Given the description of an element on the screen output the (x, y) to click on. 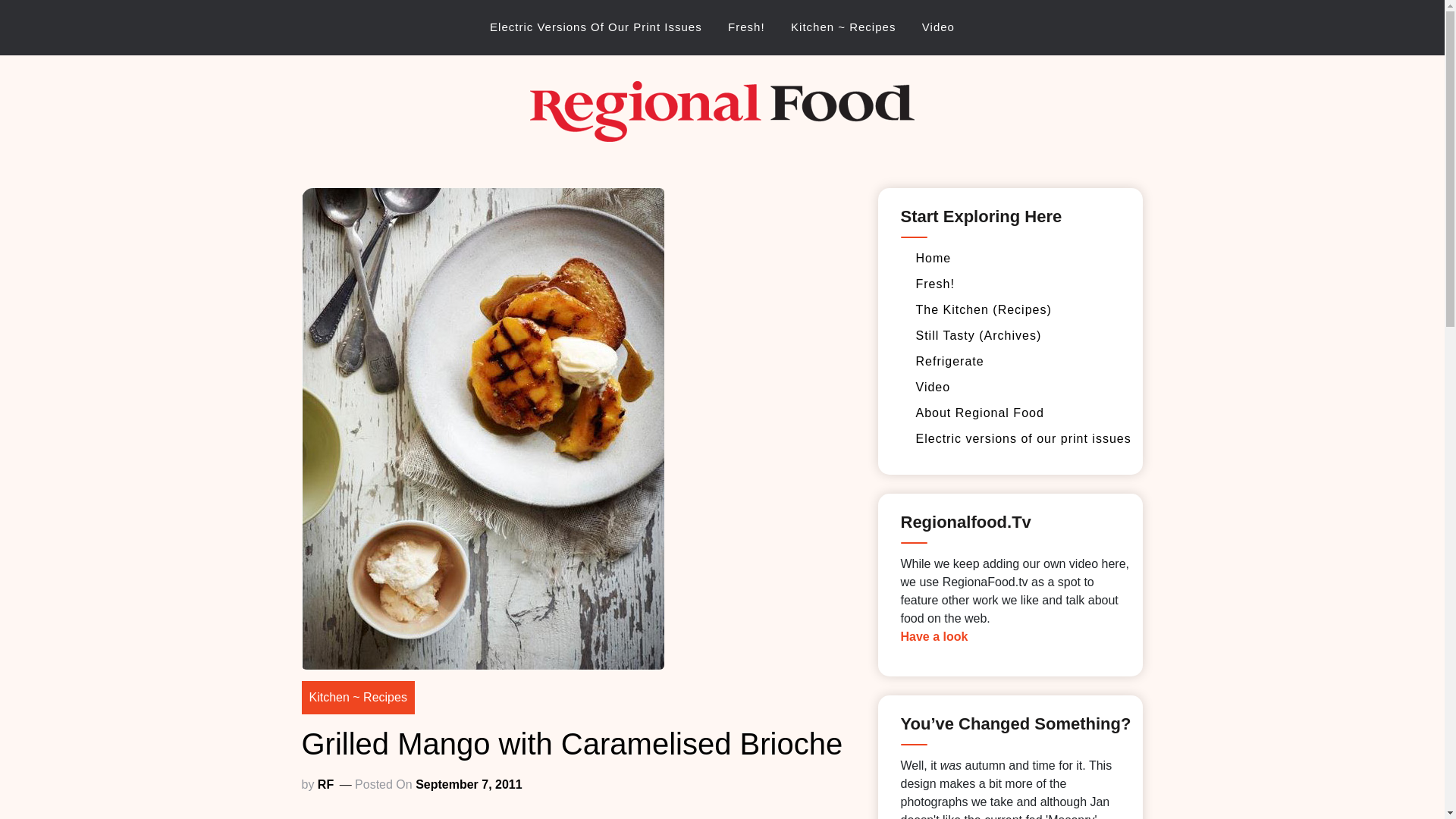
Video (938, 27)
Electric versions of our print issues (1023, 438)
Fresh! (935, 283)
Fresh! (746, 27)
Recipes and Techniques (983, 309)
Have a look (934, 635)
Electric Versions Of Our Print Issues (596, 27)
Refrigerate (949, 360)
Home (933, 257)
About Regional Food (979, 412)
Regional Food Australia Archive (842, 193)
September 7, 2011 (468, 783)
Video (932, 386)
